Given the description of an element on the screen output the (x, y) to click on. 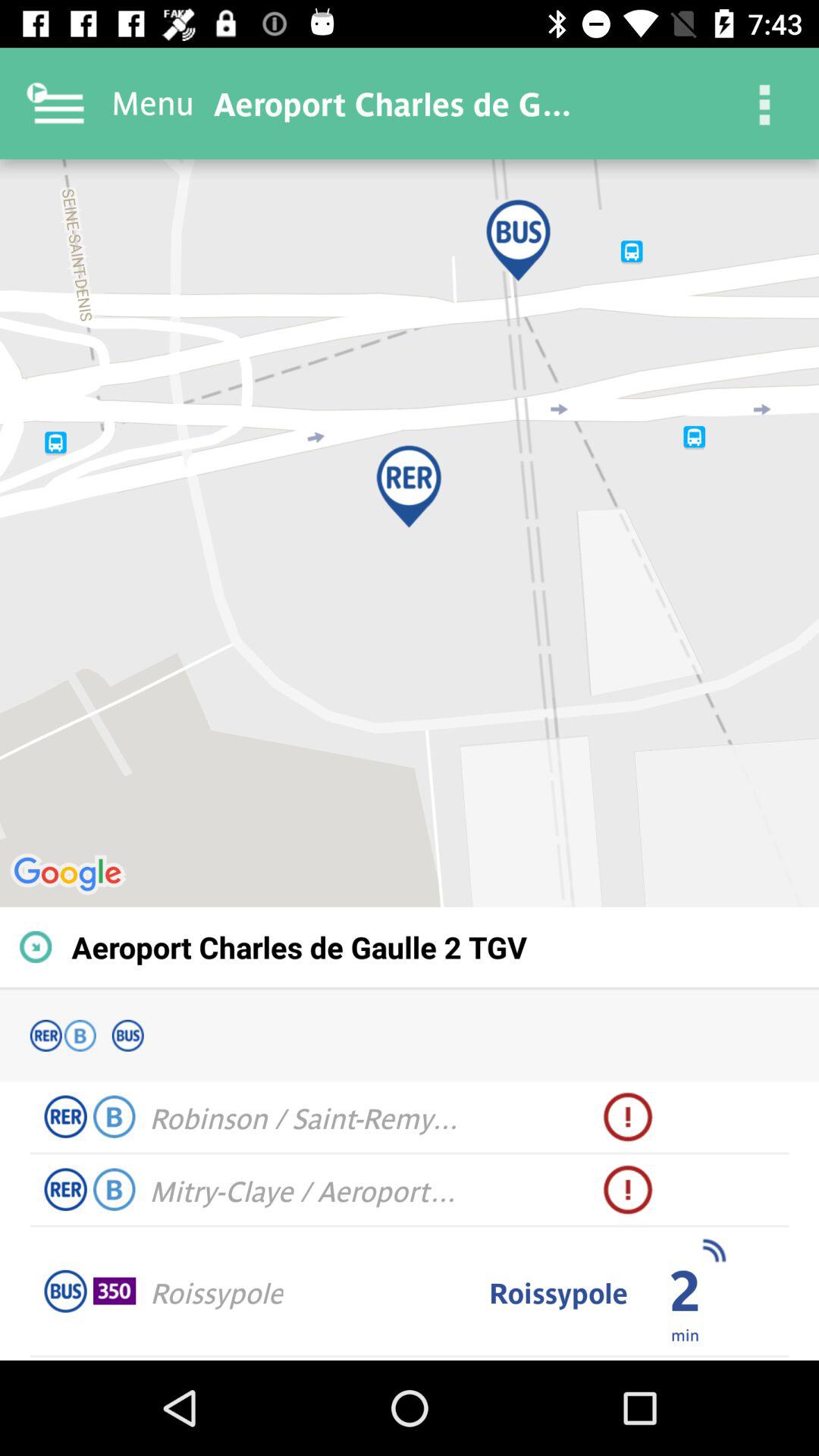
turn on the item to the right of 2 (713, 1250)
